Given the description of an element on the screen output the (x, y) to click on. 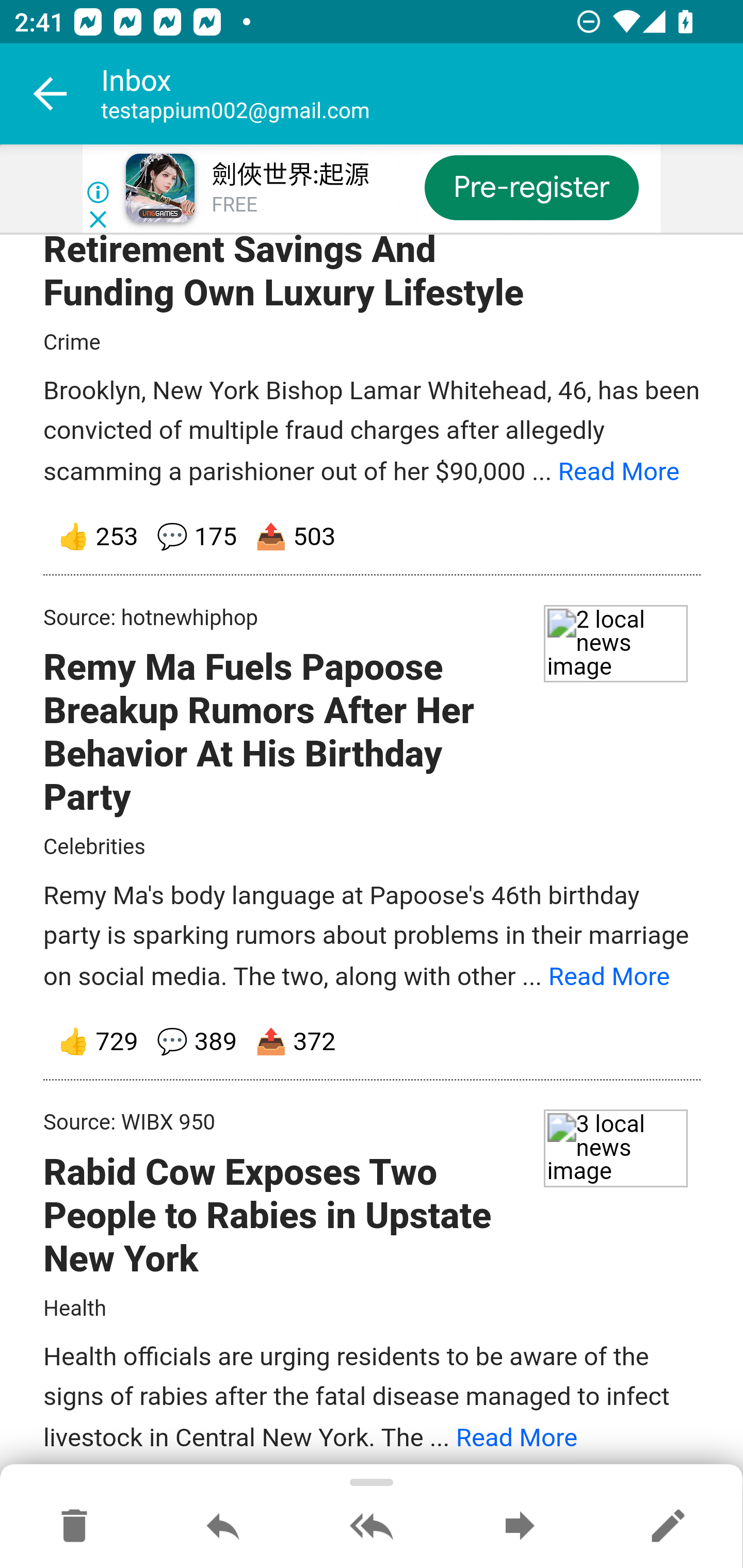
Navigate up (50, 93)
Inbox testappium002@gmail.com (422, 93)
Pre-register (530, 187)
劍俠世界:起源 (289, 175)
FREE (234, 204)
👍 253   💬 175   📤 503 (372, 538)
👍 729   💬 389   📤 372 (372, 1042)
Move to Deleted (74, 1527)
Reply (222, 1527)
Reply all (371, 1527)
Forward (519, 1527)
Reply as new (667, 1527)
